Given the description of an element on the screen output the (x, y) to click on. 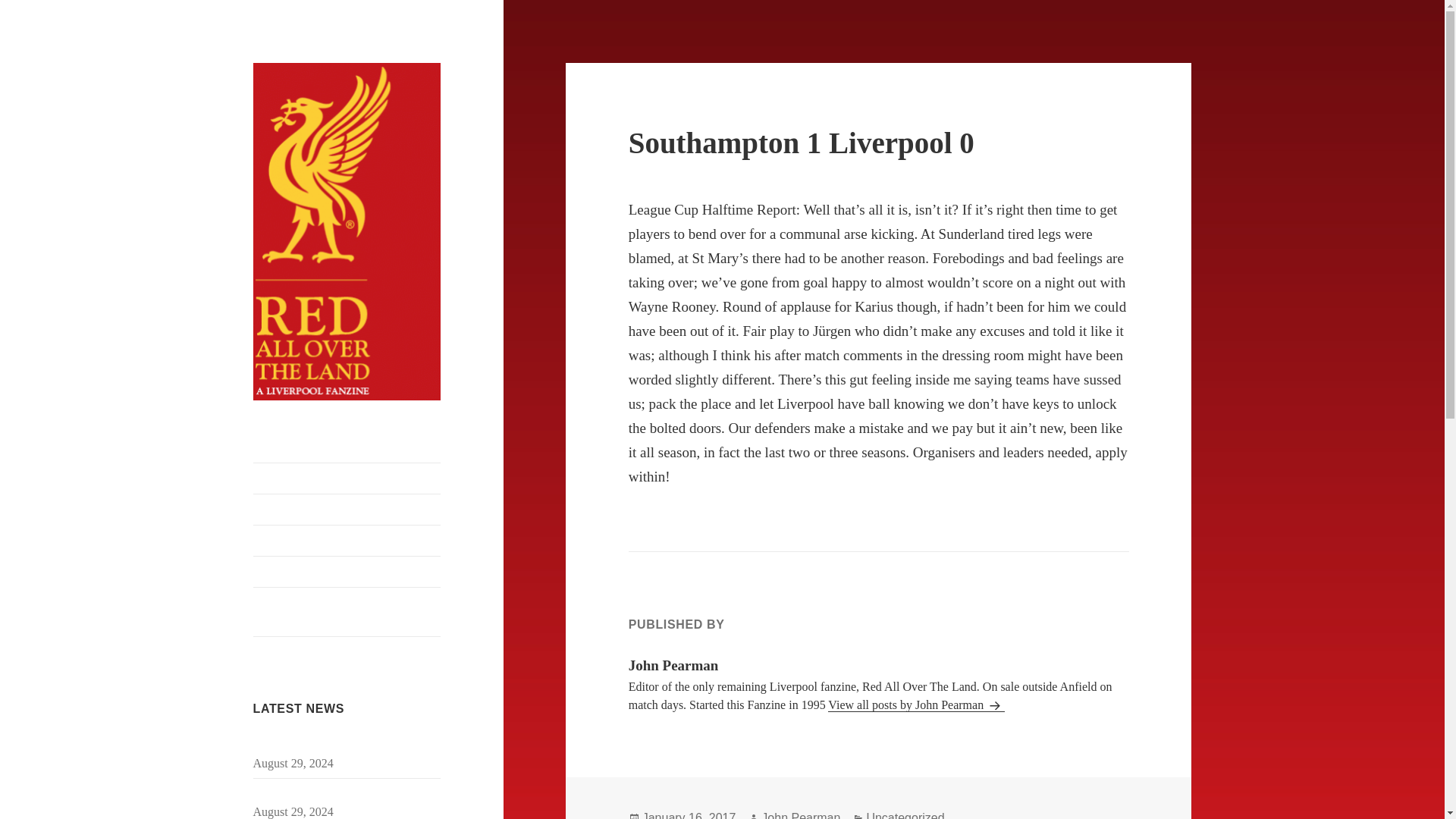
Peter Beardsley At Hotel Anfield (347, 571)
Subscribe (347, 478)
Contact Us (347, 509)
Latest News (347, 540)
View all posts by John Pearman (916, 704)
West Ham at home in the League Cup (345, 793)
January 16, 2017 (689, 815)
John Pearman (800, 815)
Red All Over The Land (335, 436)
Uncategorized (904, 815)
